Given the description of an element on the screen output the (x, y) to click on. 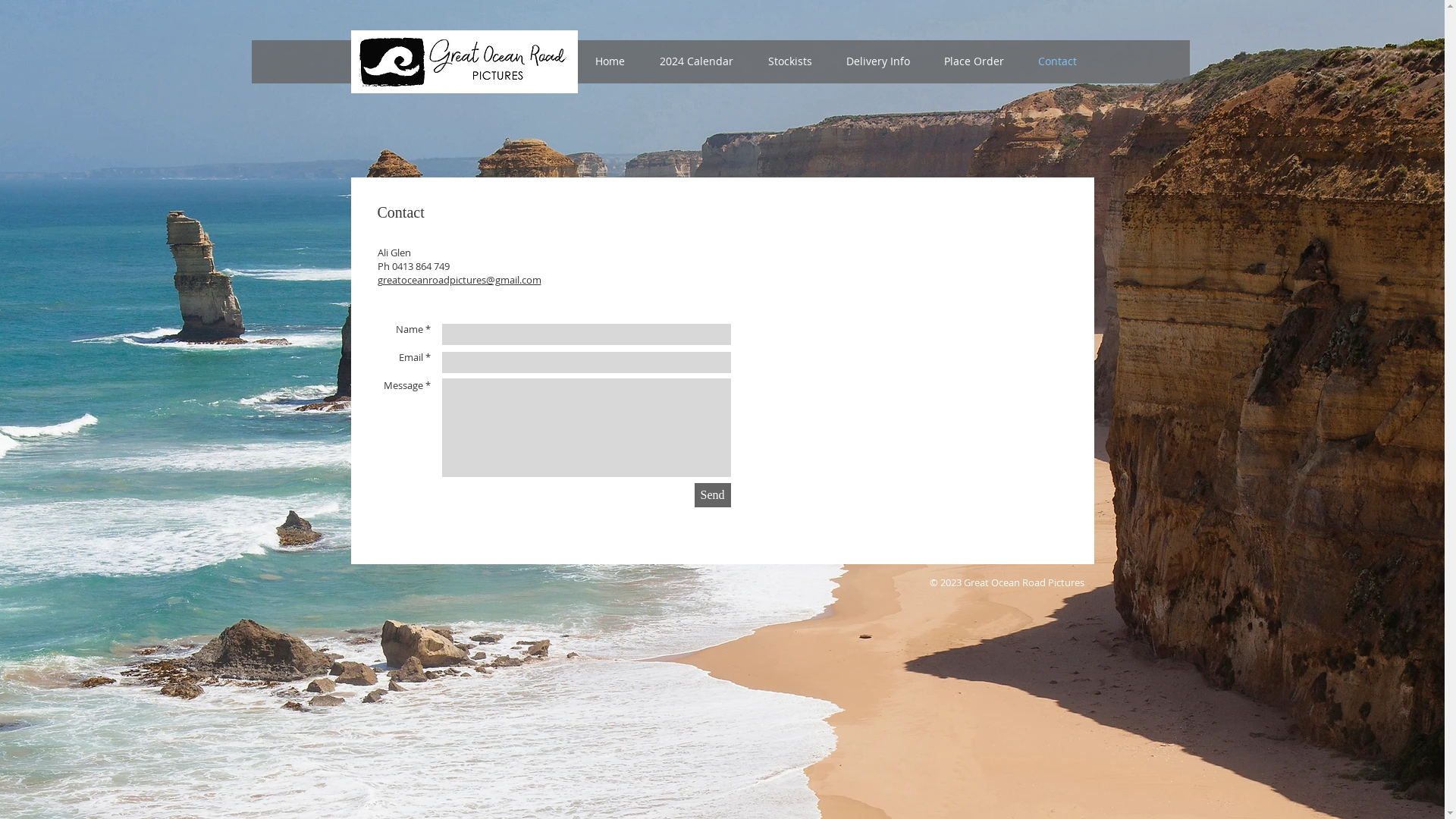
2024 Calendar Element type: text (695, 61)
Delivery Info Element type: text (878, 61)
Home Element type: text (609, 61)
Place Order Element type: text (973, 61)
Stockists Element type: text (789, 61)
Send Element type: text (712, 495)
greatoceanroadpictures@gmail.com Element type: text (459, 279)
Contact Element type: text (1056, 61)
